Given the description of an element on the screen output the (x, y) to click on. 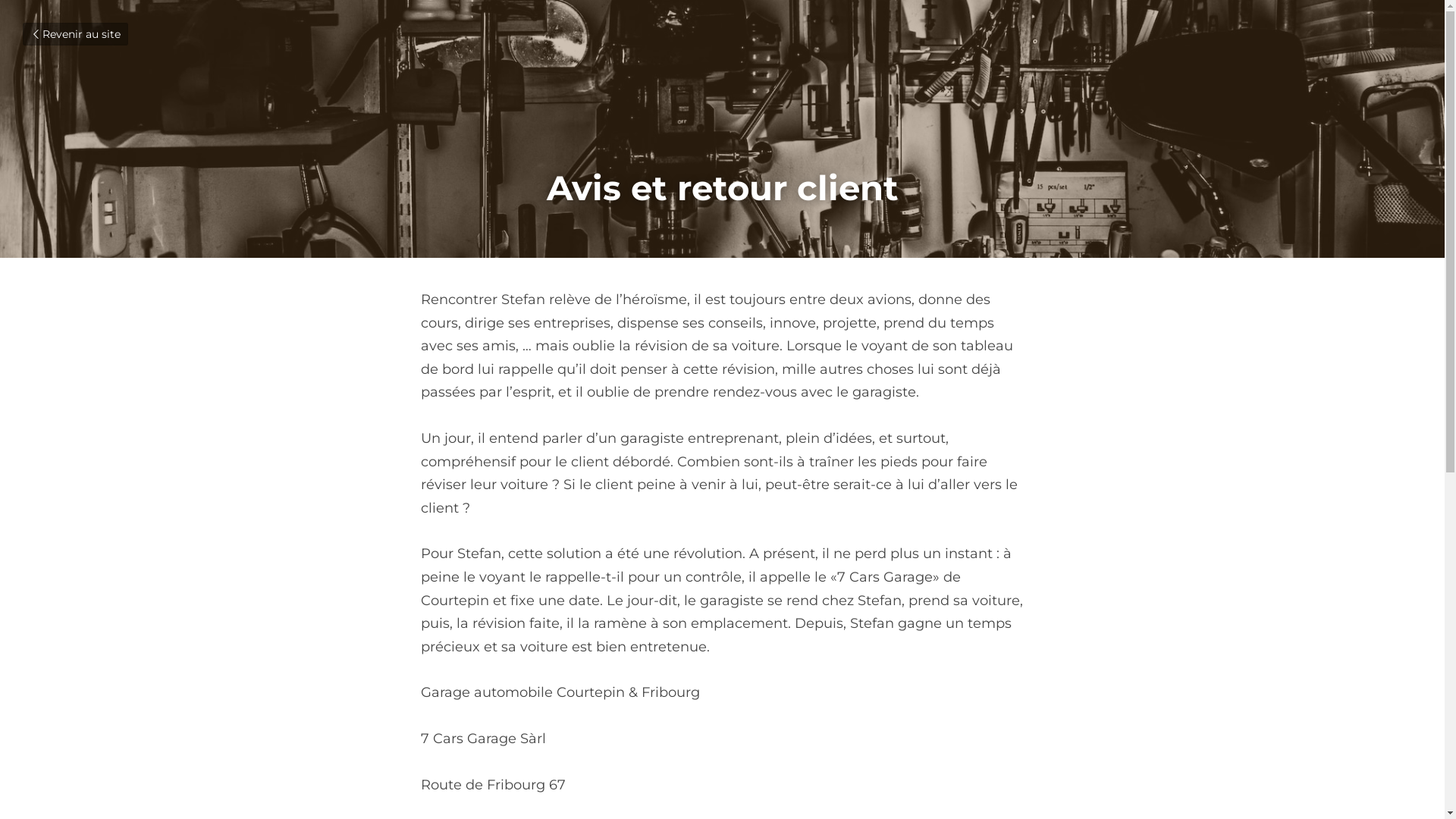
Revenir au site Element type: text (75, 33)
